Given the description of an element on the screen output the (x, y) to click on. 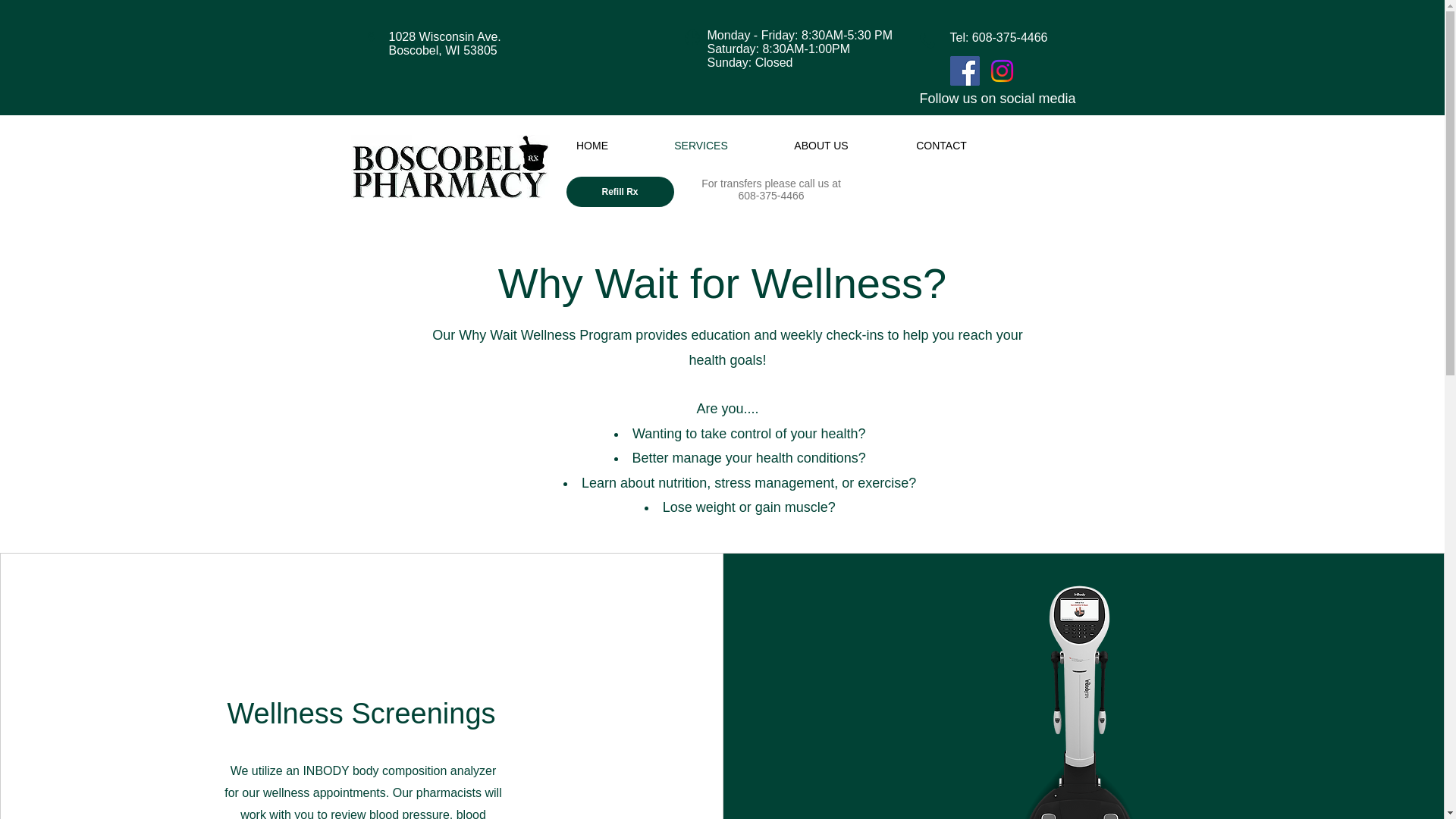
Refill Rx (619, 191)
LOGO.JPG (449, 167)
HOME (592, 145)
CONTACT (941, 145)
SERVICES (701, 145)
ABOUT US (821, 145)
